Given the description of an element on the screen output the (x, y) to click on. 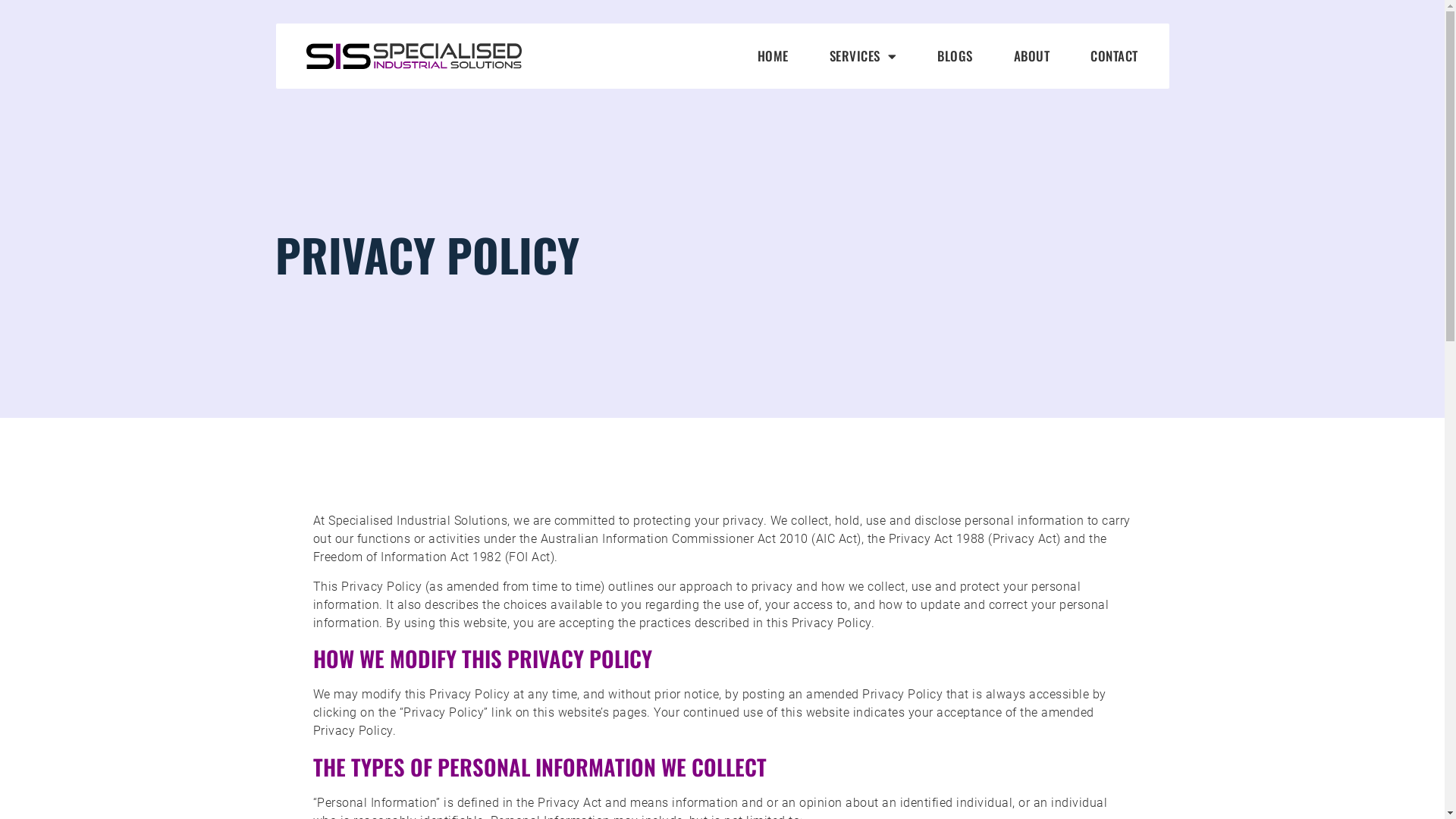
BLOGS Element type: text (955, 55)
ABOUT Element type: text (1031, 55)
CONTACT Element type: text (1114, 55)
HOME Element type: text (772, 55)
SERVICES Element type: text (863, 55)
